Given the description of an element on the screen output the (x, y) to click on. 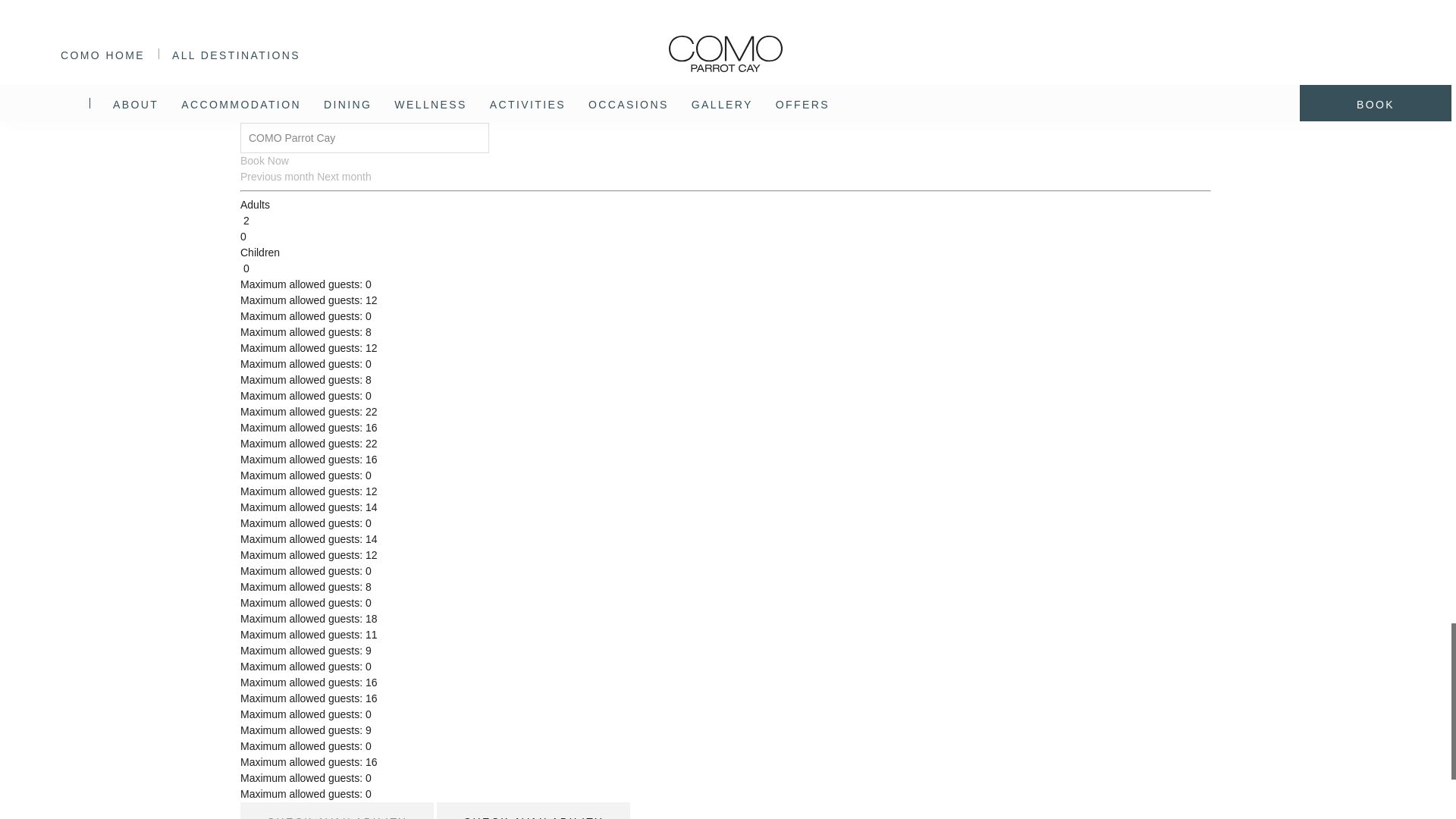
Book Now (264, 160)
